Given the description of an element on the screen output the (x, y) to click on. 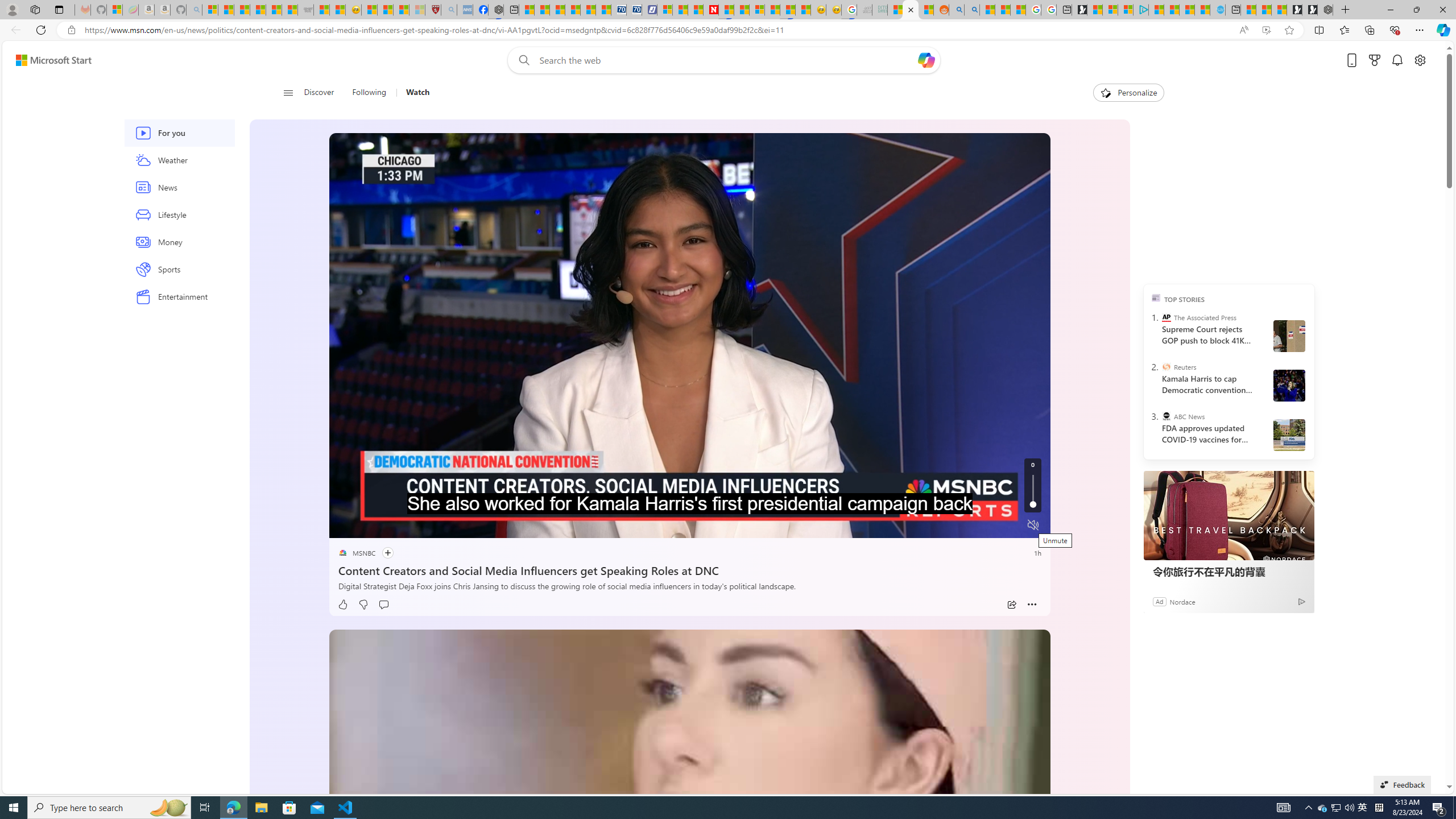
Recipes - MSN (368, 9)
Seek Forward (391, 525)
Class: button-glyph (287, 92)
